Given the description of an element on the screen output the (x, y) to click on. 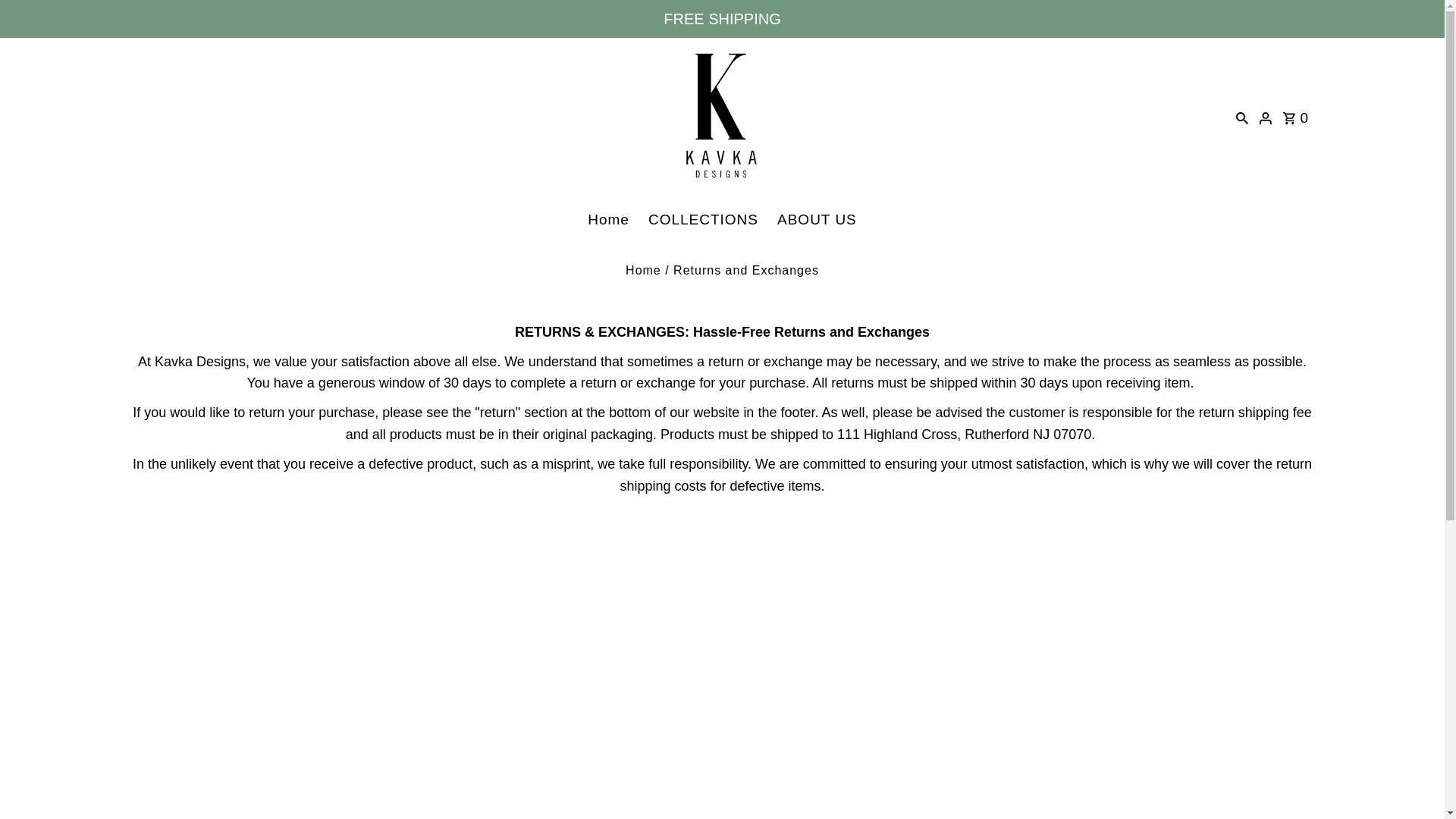
COLLECTIONS (702, 219)
Home (643, 269)
Home (608, 219)
ABOUT US (817, 219)
Home (643, 269)
